Given the description of an element on the screen output the (x, y) to click on. 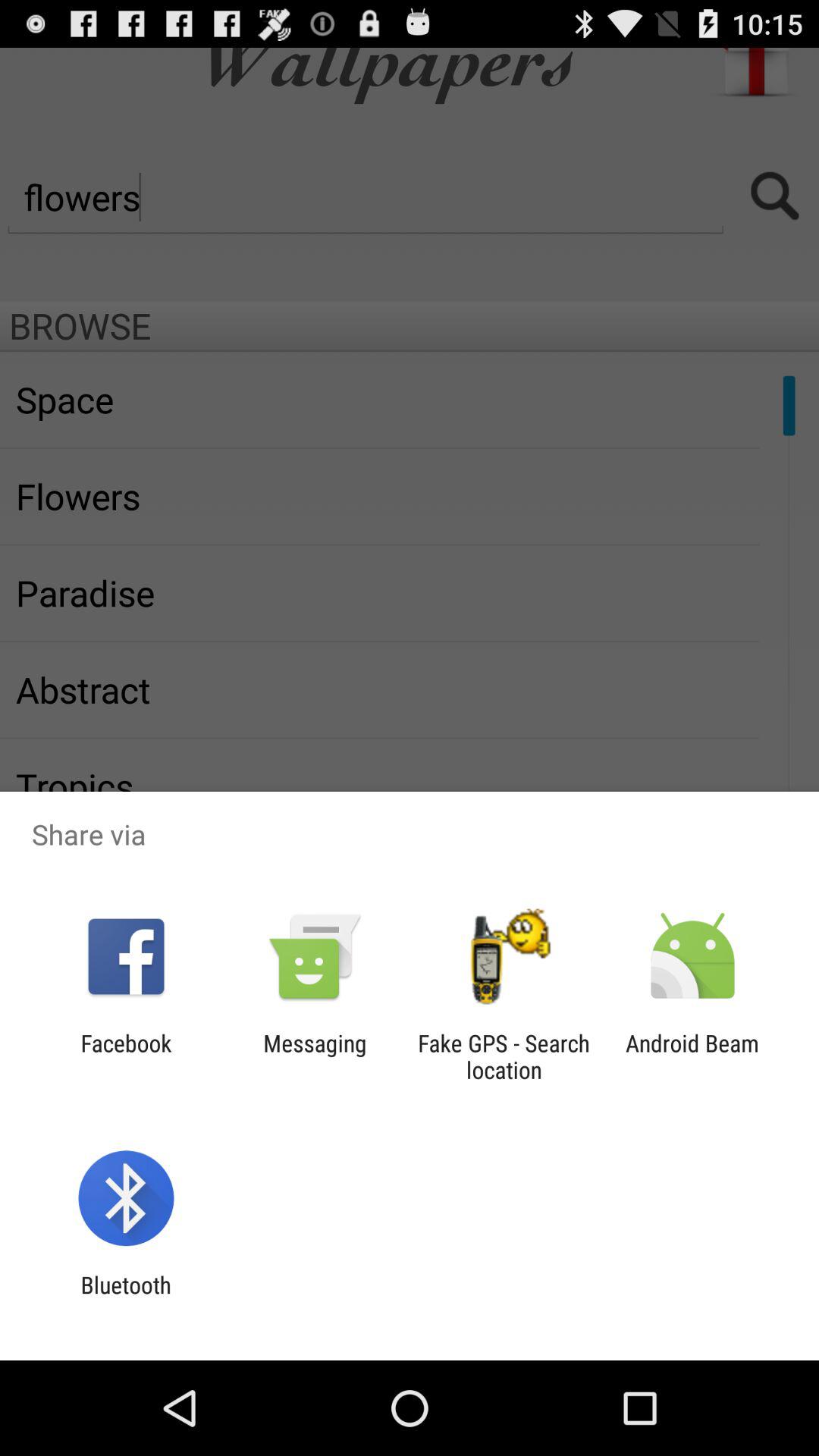
press app to the left of the fake gps search (314, 1056)
